Given the description of an element on the screen output the (x, y) to click on. 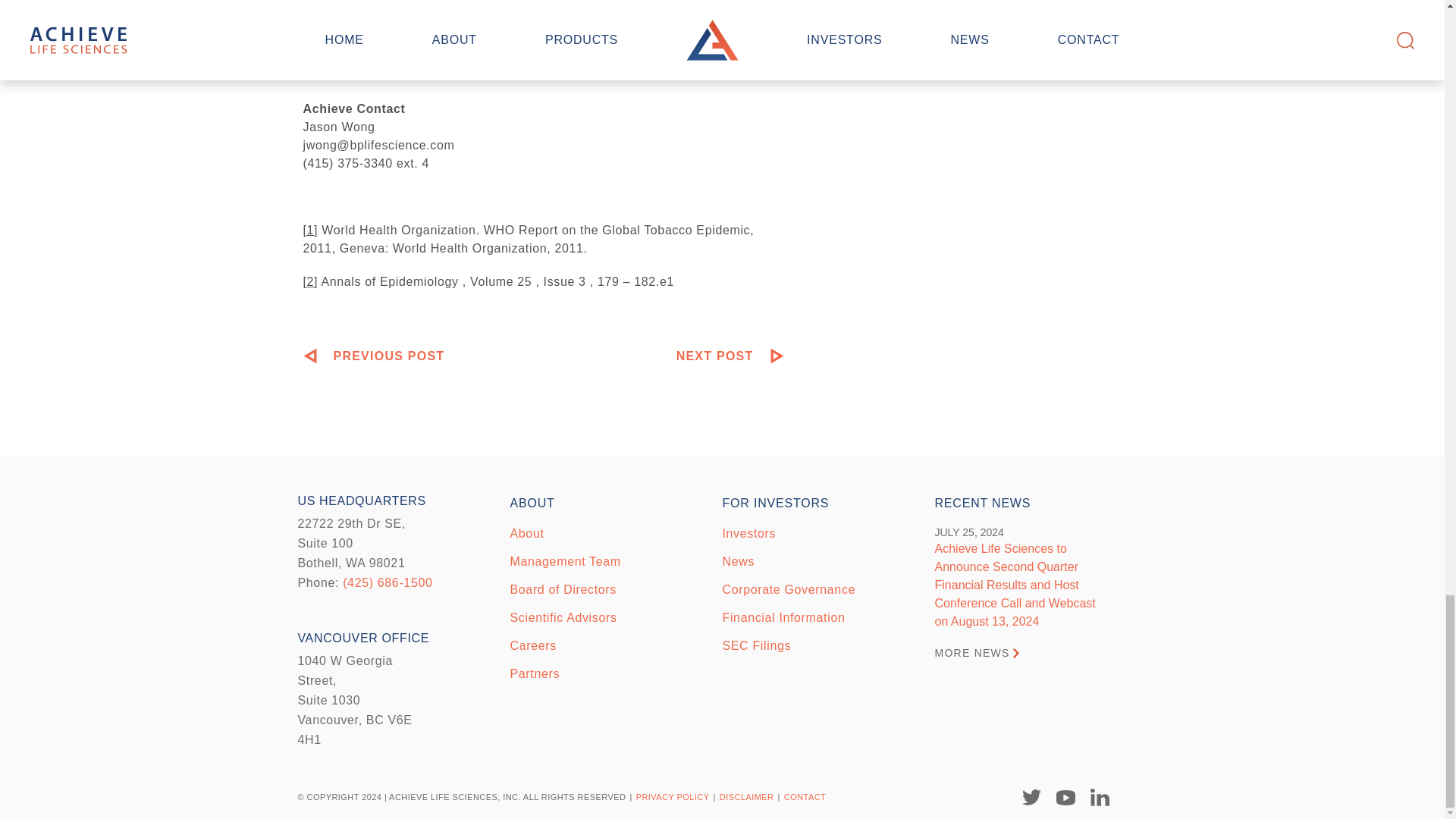
MORE NEWS (975, 652)
PREVIOUS POST (373, 356)
linkedin (1099, 797)
DISCLAIMER (746, 796)
Financial Information (783, 617)
CONTACT (804, 796)
Partners (534, 673)
twitter (1031, 797)
Corporate Governance (789, 589)
Investors (749, 533)
SEC Filings (756, 645)
Management Team (564, 561)
Board of Directors (562, 589)
About (526, 533)
